Given the description of an element on the screen output the (x, y) to click on. 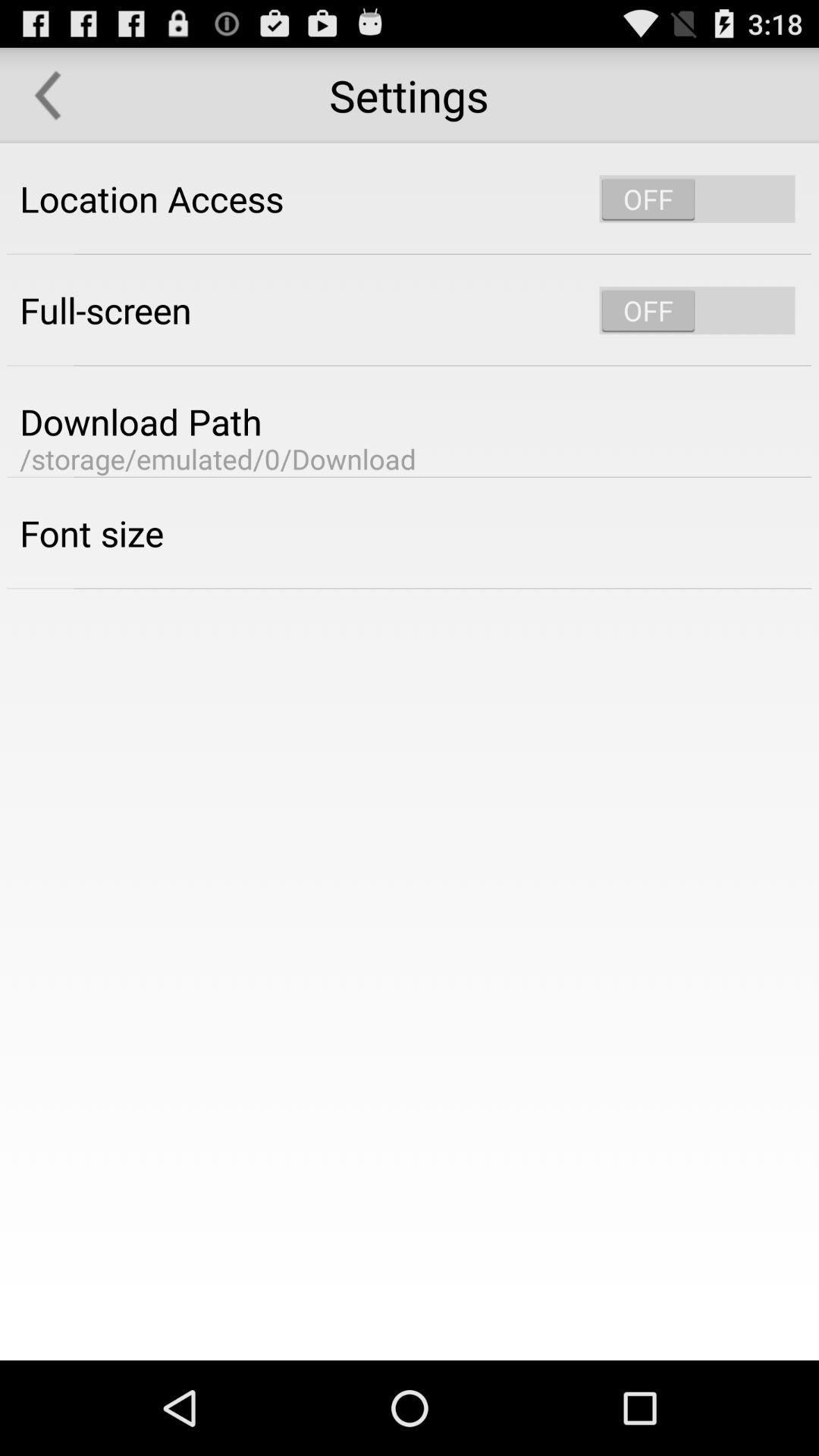
choose the icon above location access app (47, 95)
